Given the description of an element on the screen output the (x, y) to click on. 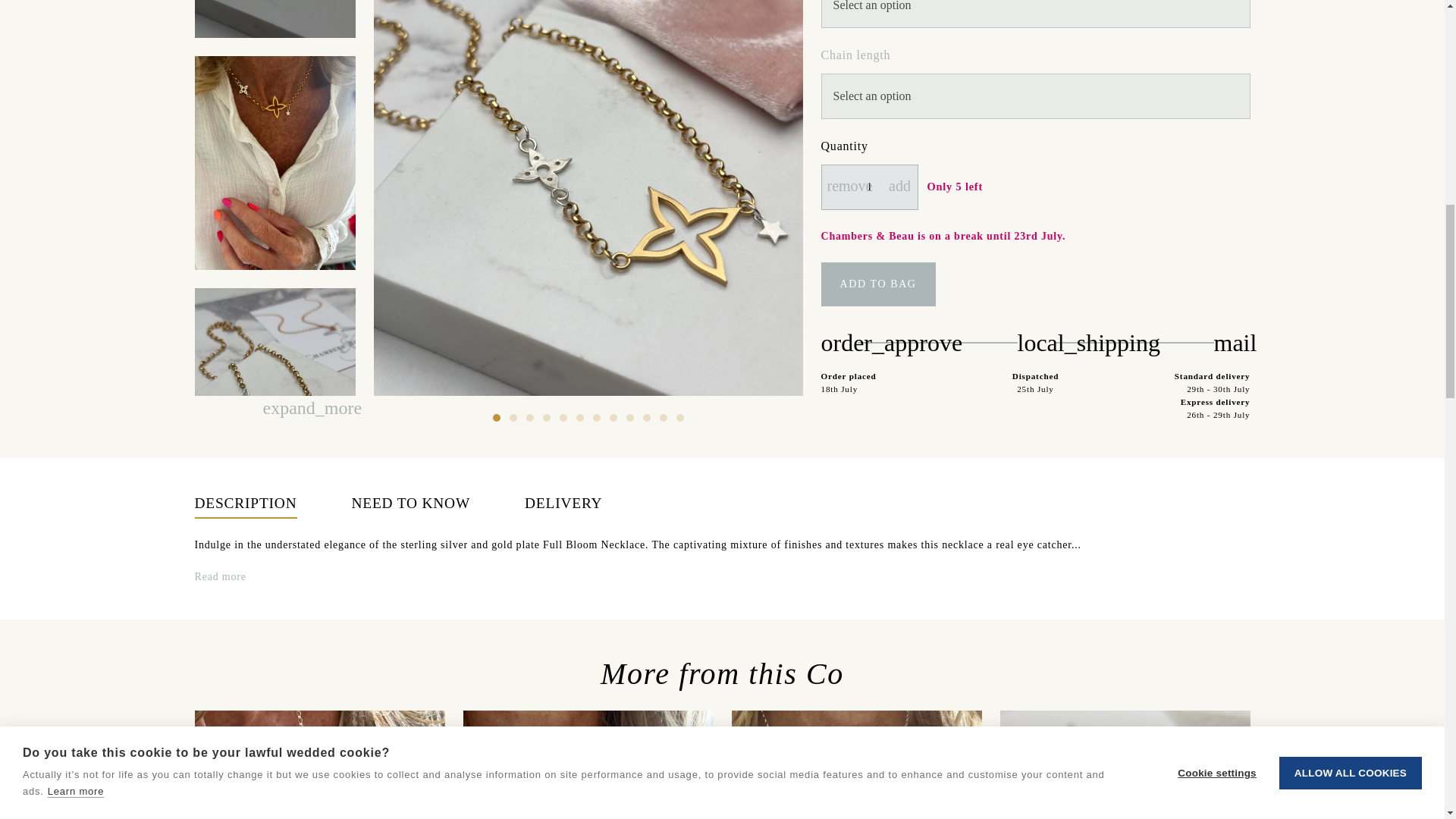
1 (869, 186)
